Given the description of an element on the screen output the (x, y) to click on. 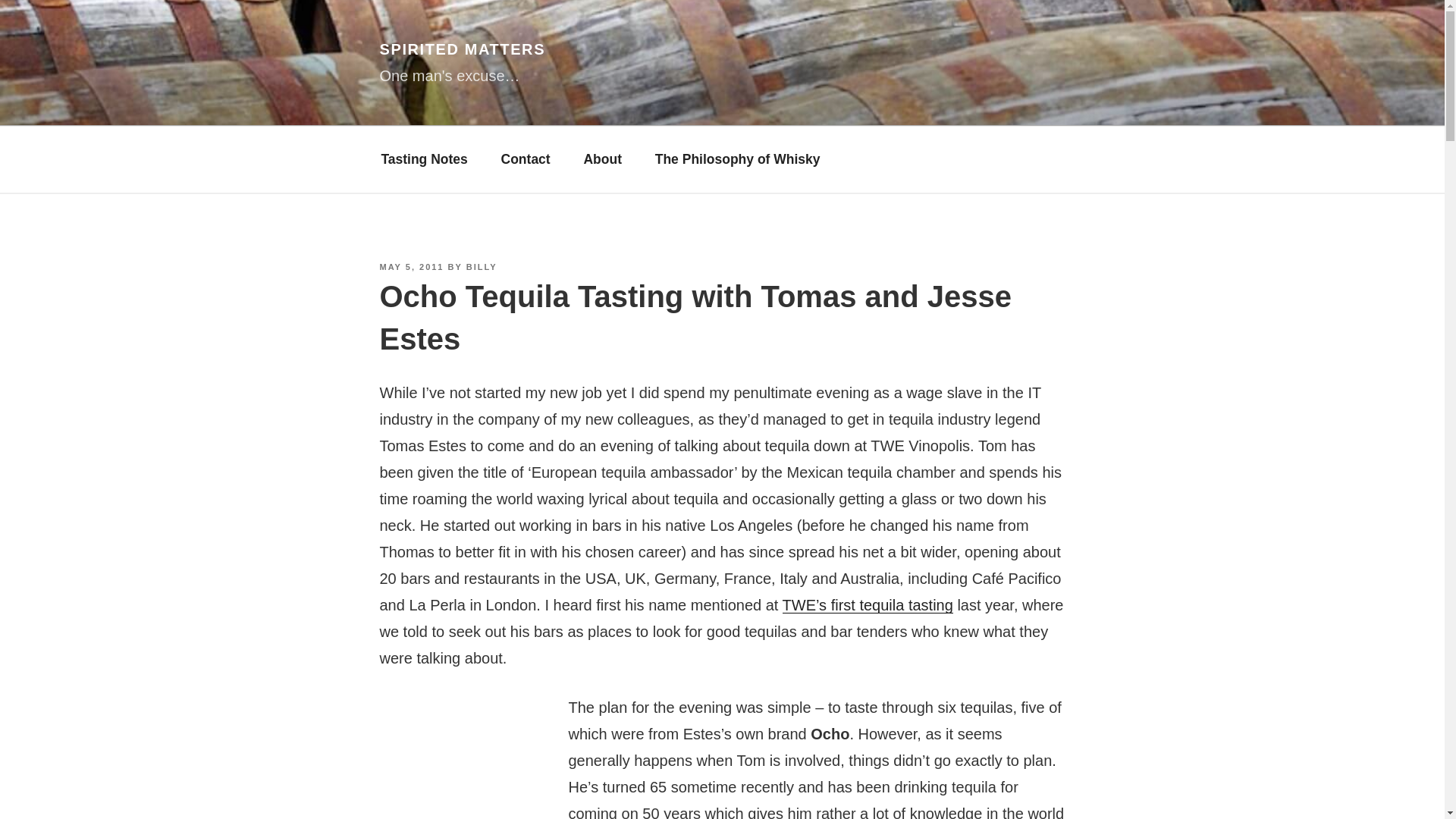
The Philosophy of Whisky (738, 160)
MAY 5, 2011 (411, 266)
About (603, 160)
Contact (525, 160)
BILLY (481, 266)
Tasting Notes (423, 160)
SPIRITED MATTERS (461, 48)
